Given the description of an element on the screen output the (x, y) to click on. 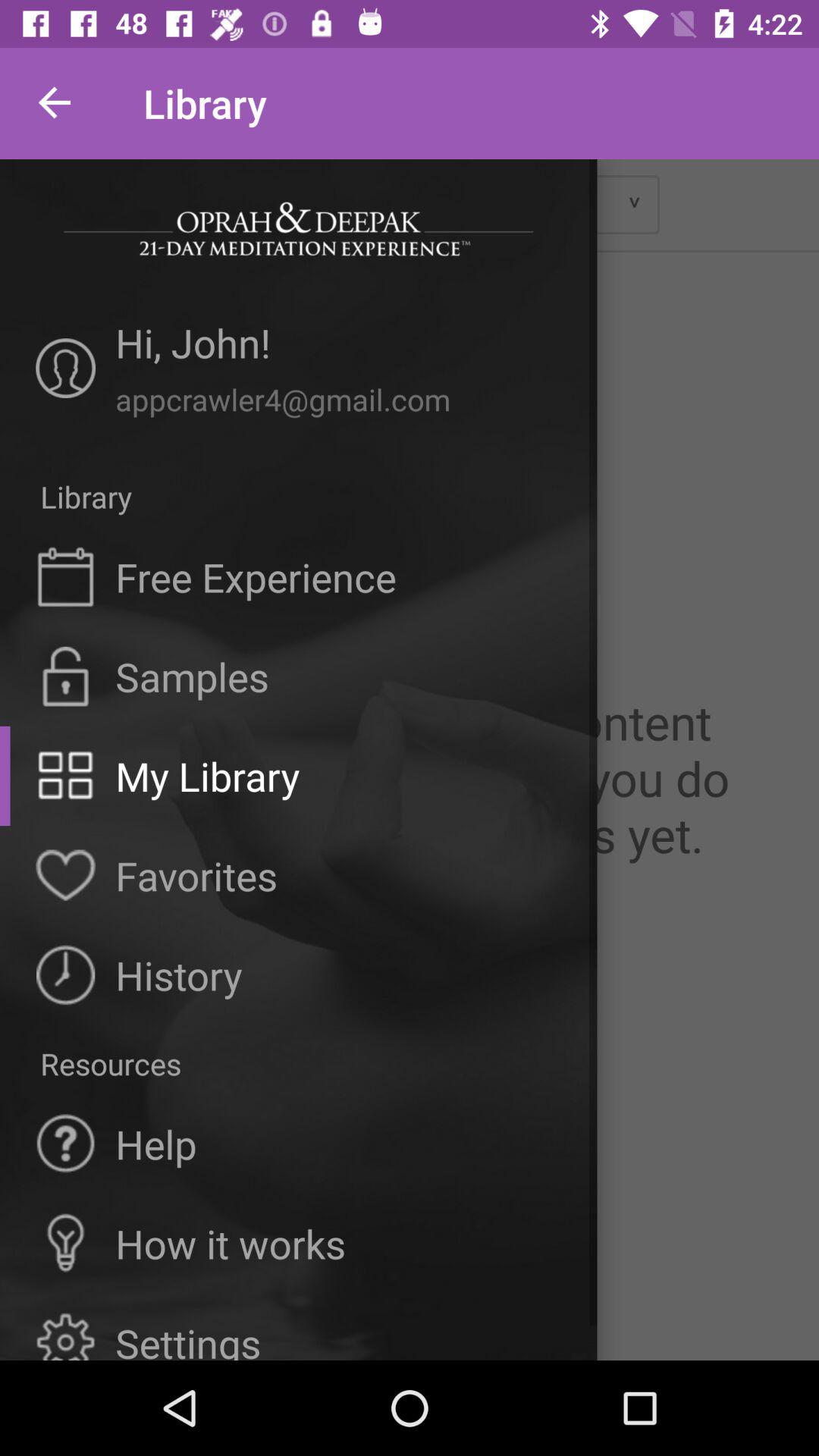
launch item below the samples item (207, 775)
